Given the description of an element on the screen output the (x, y) to click on. 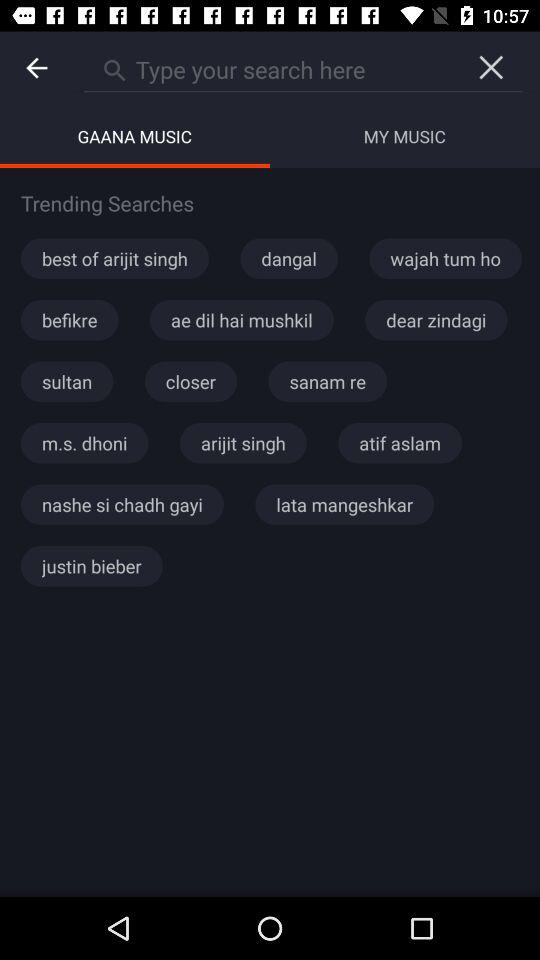
choose the item next to the nashe si chadh (344, 504)
